Given the description of an element on the screen output the (x, y) to click on. 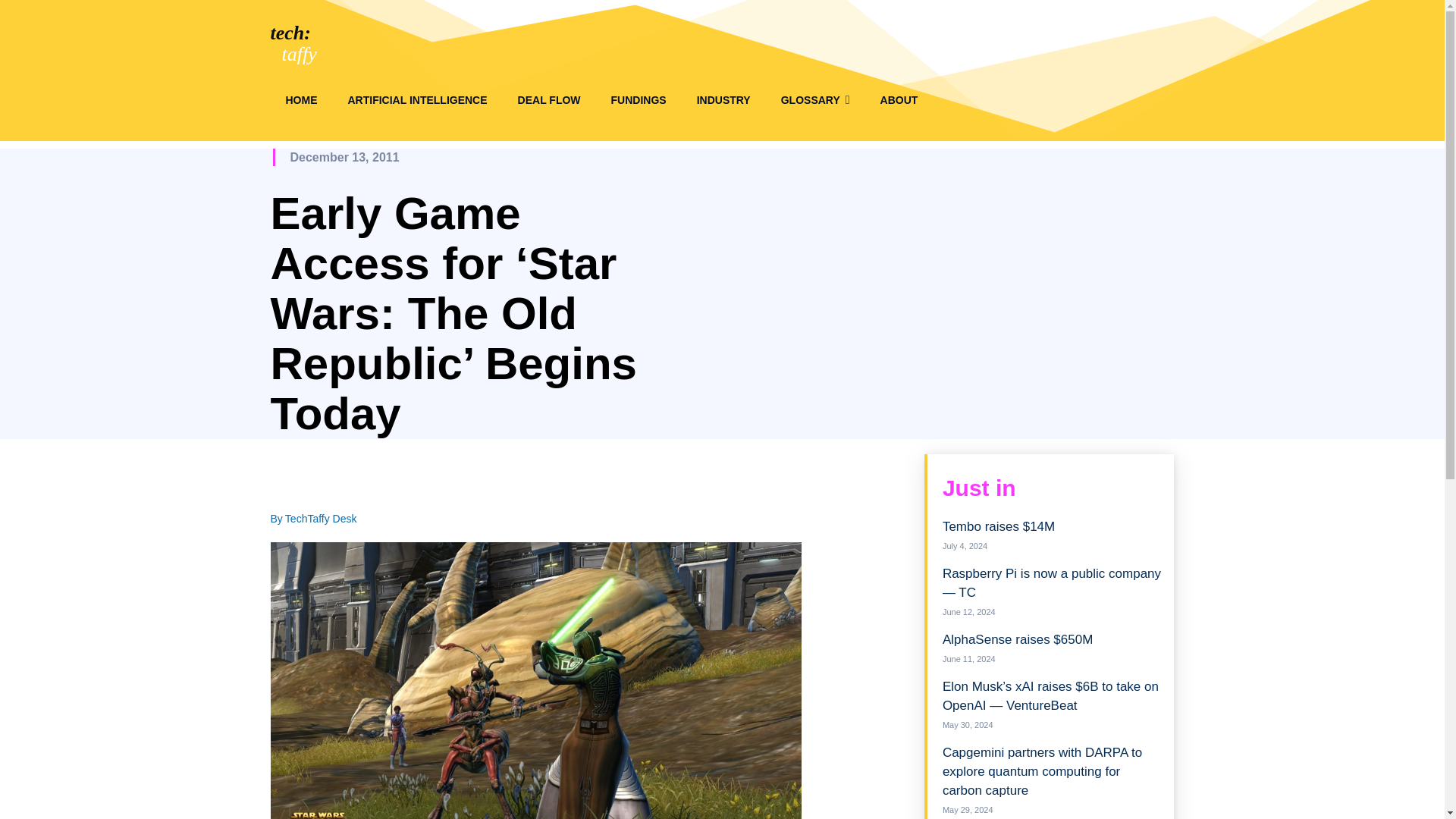
TechTaffy Desk (320, 517)
HOME (300, 99)
DEAL FLOW (548, 99)
ARTIFICIAL INTELLIGENCE (416, 99)
taffy (299, 54)
INDUSTRY (723, 99)
FUNDINGS (638, 99)
GLOSSARY (814, 99)
ABOUT (898, 99)
